Given the description of an element on the screen output the (x, y) to click on. 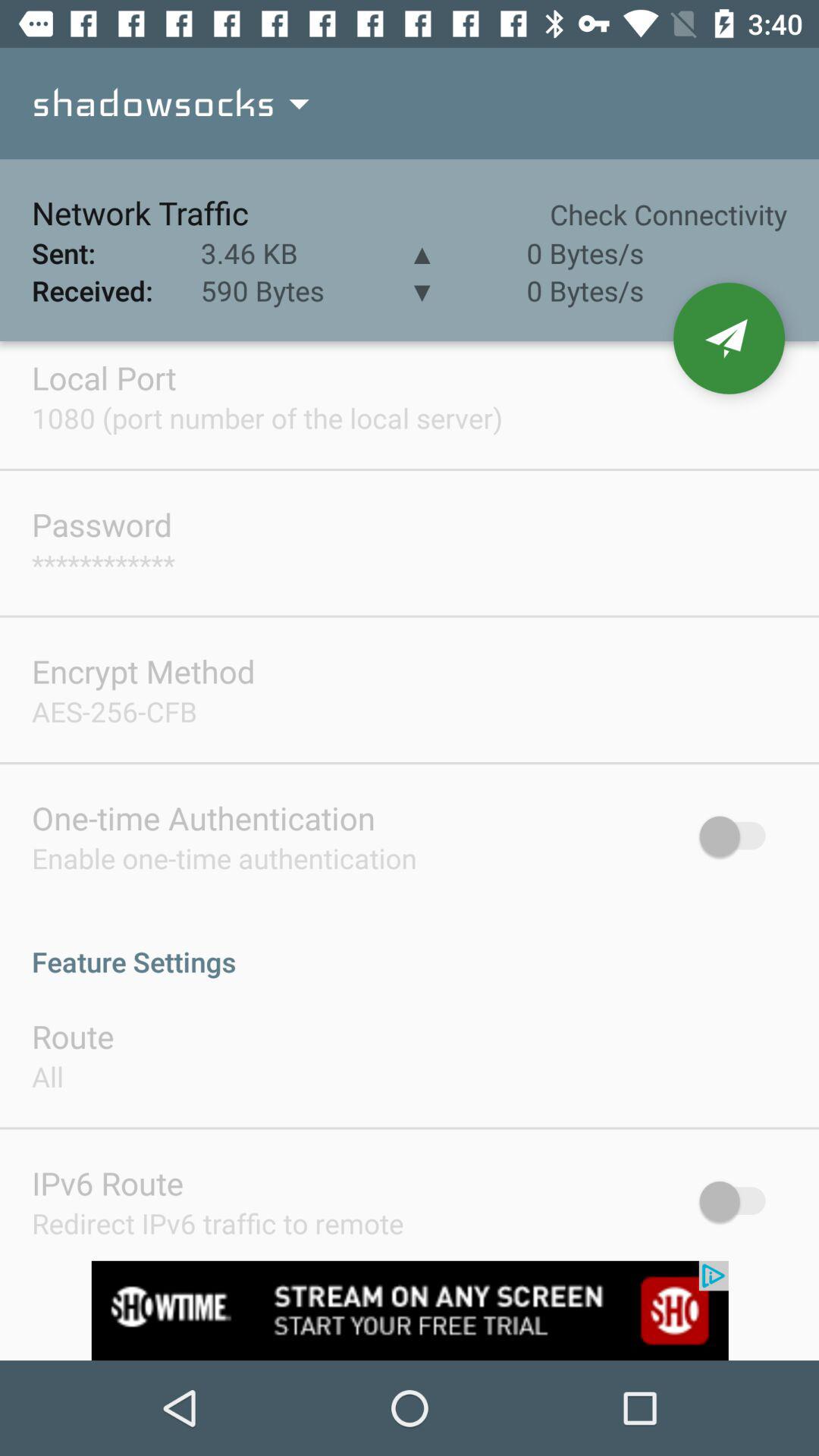
advertisement (409, 1310)
